Given the description of an element on the screen output the (x, y) to click on. 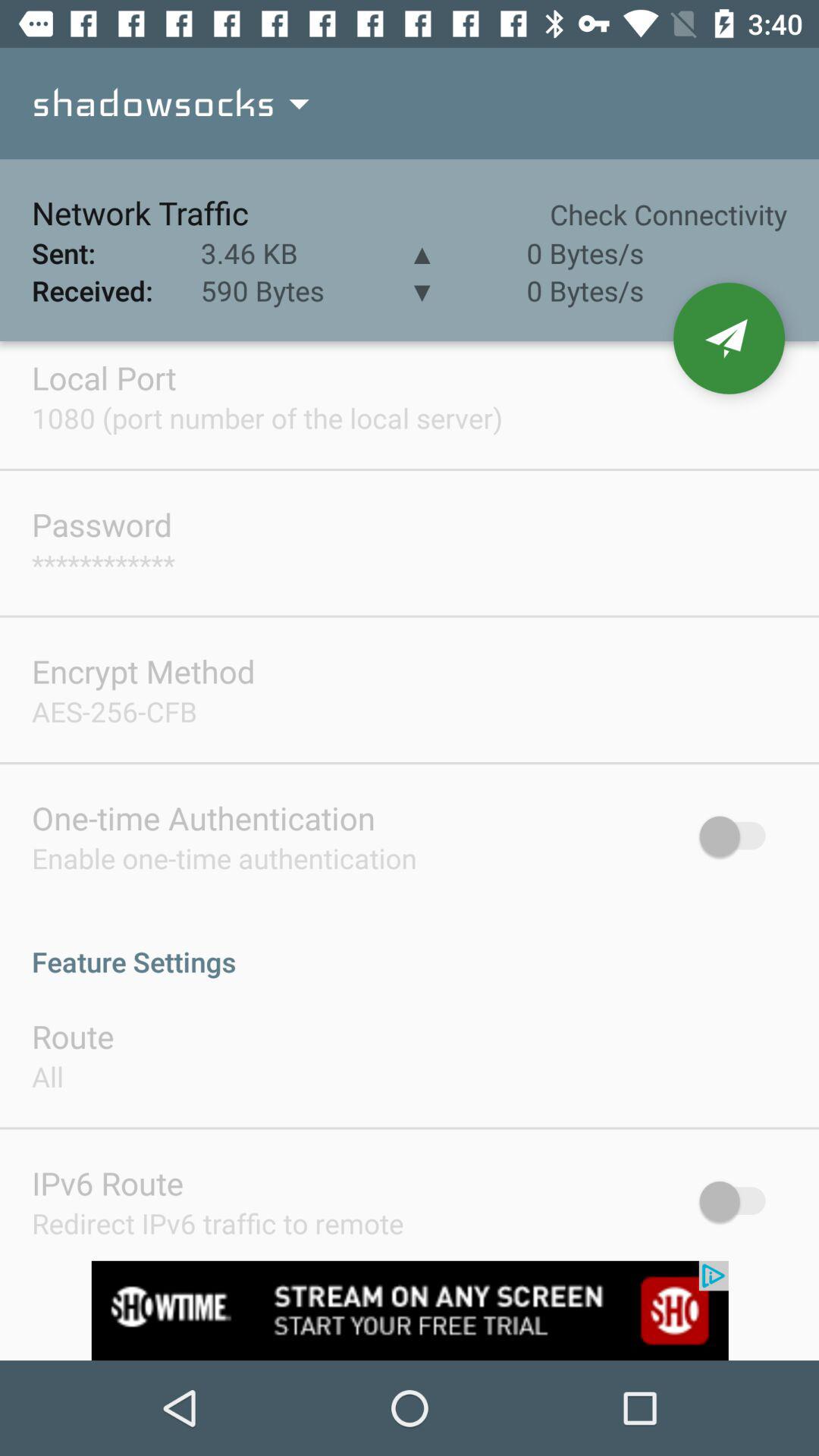
advertisement (409, 1310)
